Given the description of an element on the screen output the (x, y) to click on. 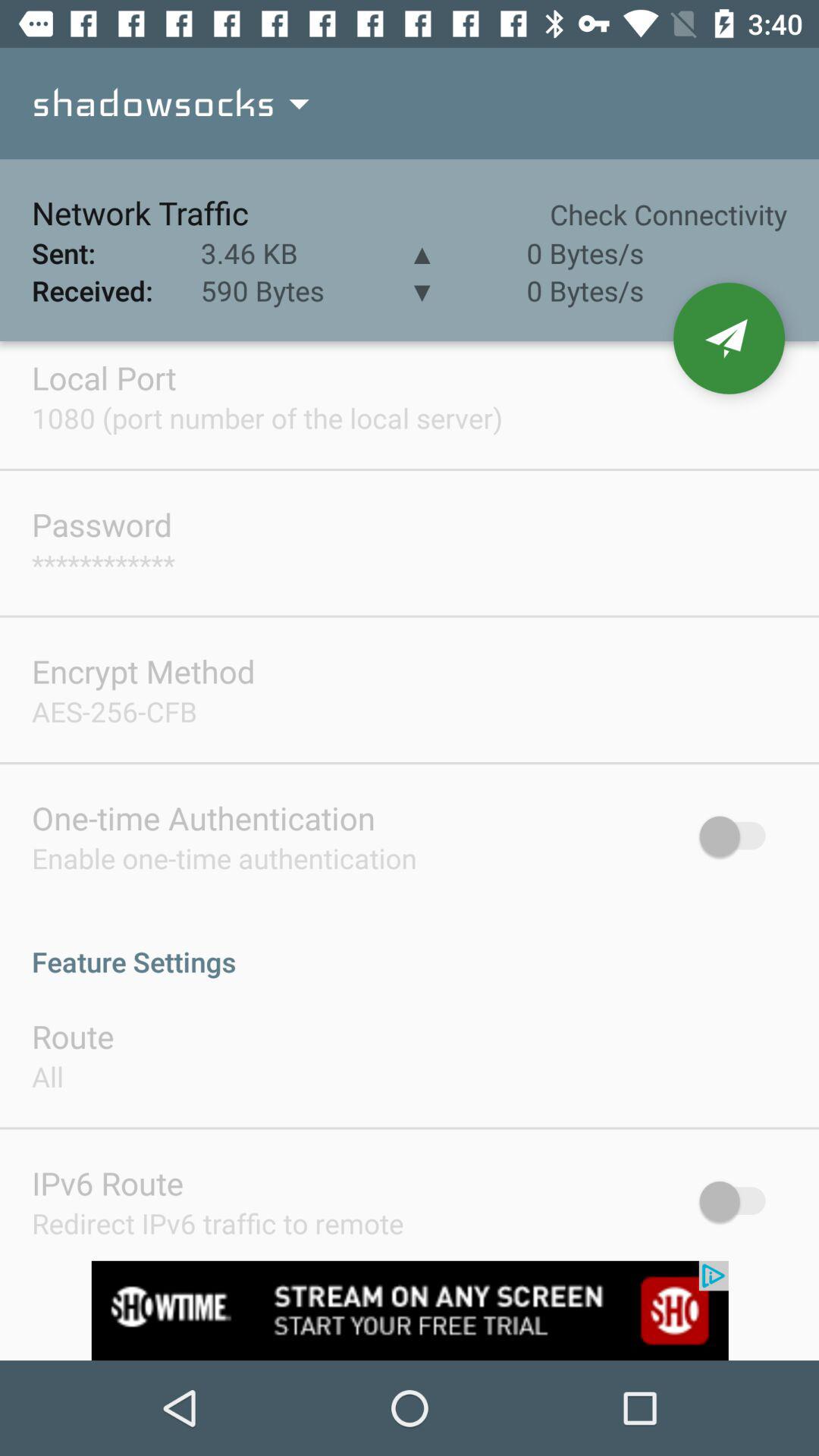
advertisement (409, 1310)
